Given the description of an element on the screen output the (x, y) to click on. 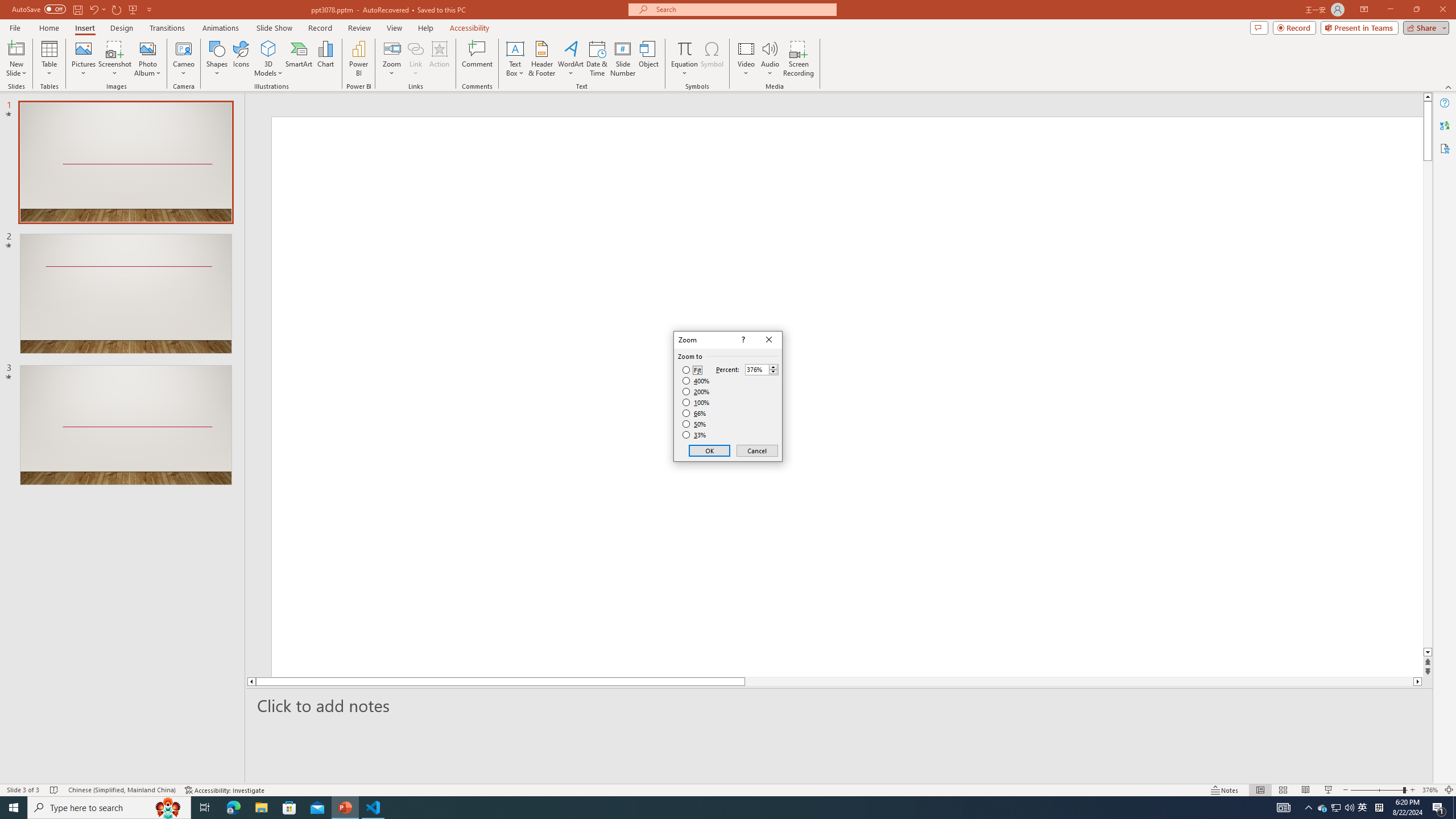
Cameo (183, 58)
Comment (476, 58)
Table (49, 58)
Equation (683, 48)
An abstract genetic concept (363, 526)
Screen Recording... (798, 58)
